Given the description of an element on the screen output the (x, y) to click on. 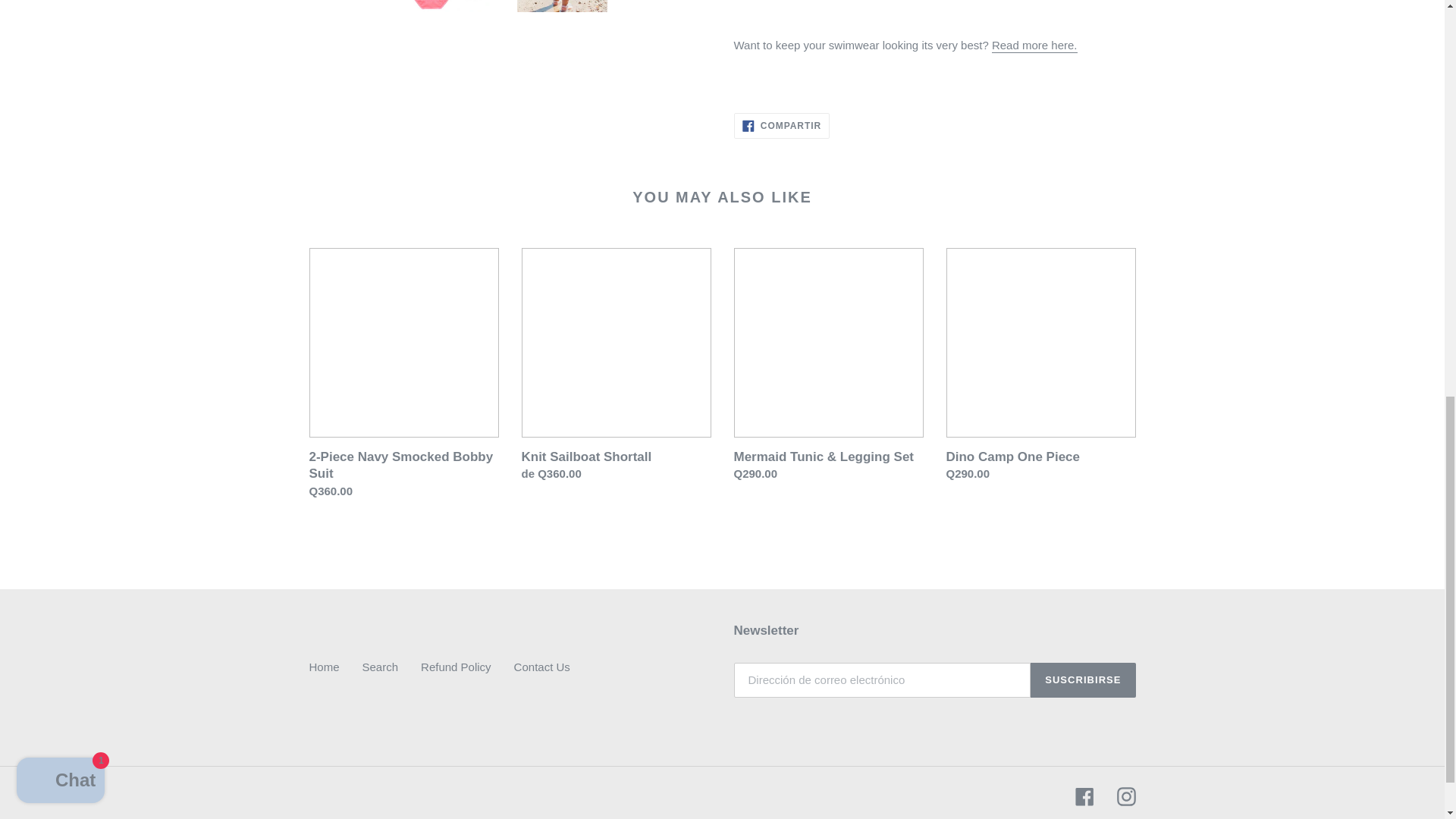
Swimwear Care (1034, 45)
